Given the description of an element on the screen output the (x, y) to click on. 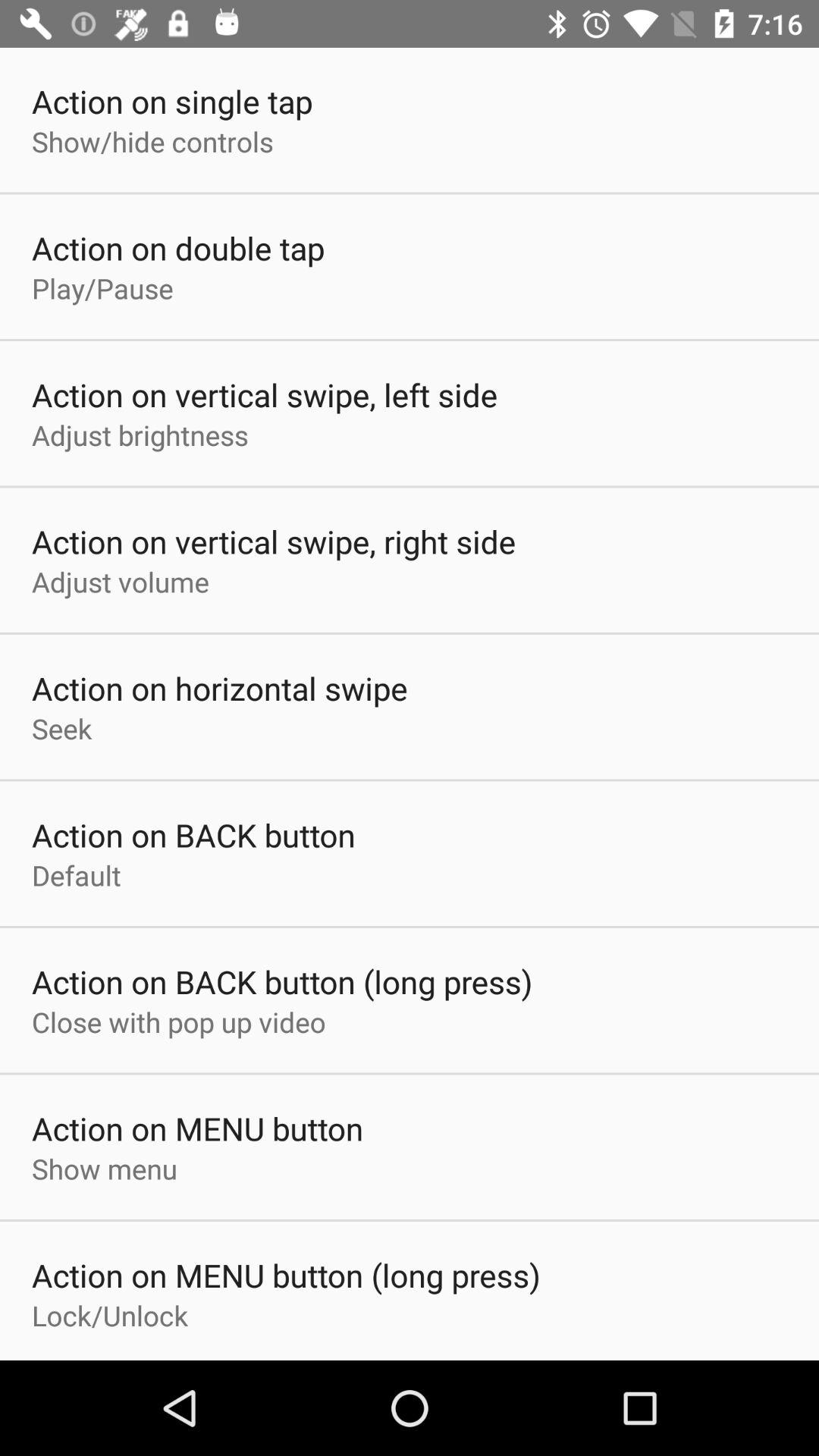
choose the adjust brightness item (139, 434)
